Given the description of an element on the screen output the (x, y) to click on. 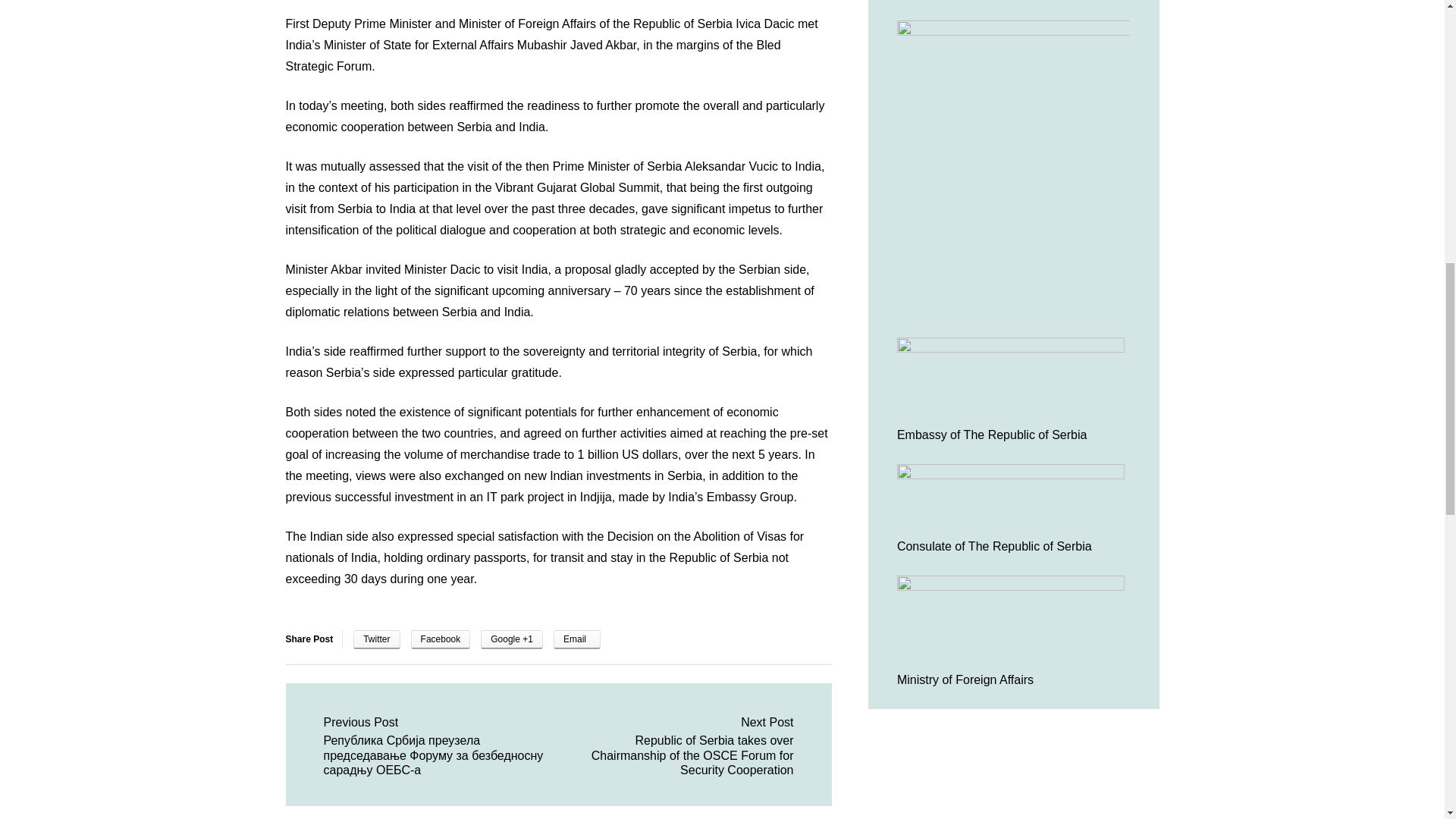
Share on Facebook (440, 639)
Twitter (375, 639)
Ministry of Foreign Affairs (964, 679)
Email (576, 639)
Embassy of The Republic of Serbia (991, 434)
Share on Twitter (375, 639)
Facebook (440, 639)
Share by email to a friend (576, 639)
Consulate of The Republic of Serbia (994, 545)
